Given the description of an element on the screen output the (x, y) to click on. 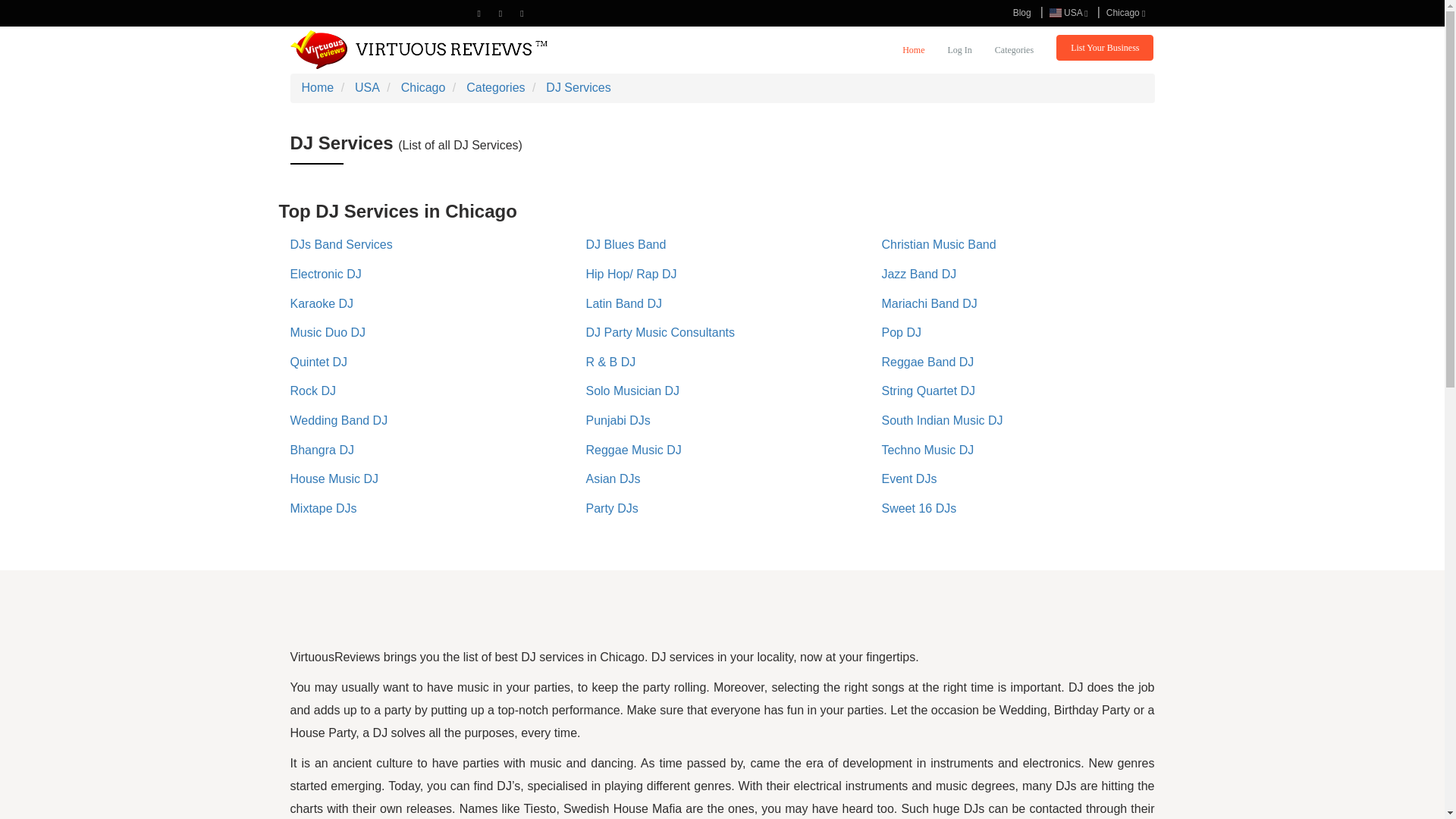
Blog (1022, 12)
Virtuous Reviews (418, 49)
Chicago (1125, 12)
The Official Virtuous Reviews Blog (1022, 12)
USA (1069, 12)
select city (1125, 12)
